Given the description of an element on the screen output the (x, y) to click on. 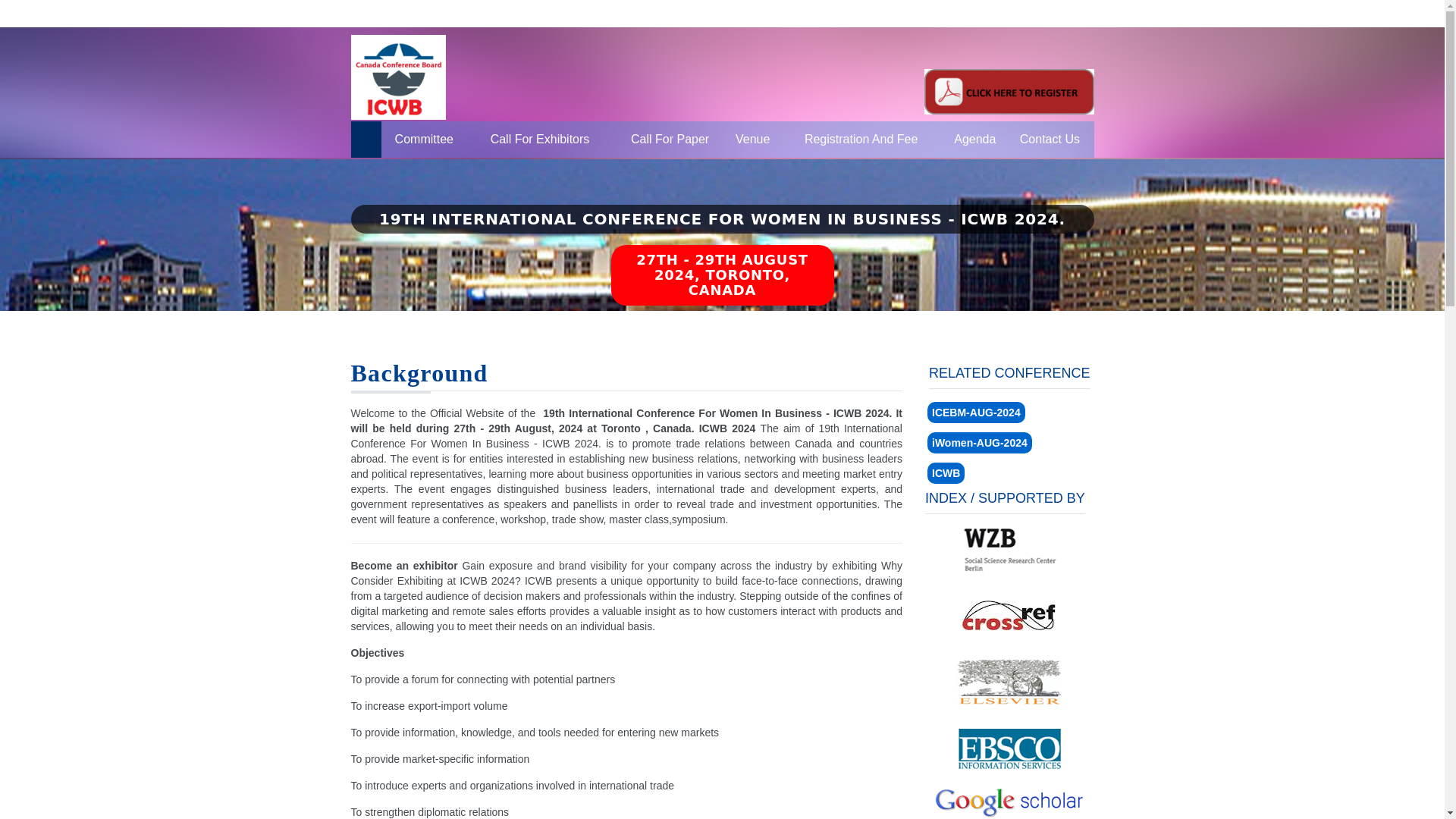
ICWB (945, 473)
Committee (423, 139)
Registration And Fee (860, 139)
ICEBM-AUG-2024 (976, 412)
Venue (751, 139)
Call For Paper (669, 139)
iWomen-AUG-2024 (979, 442)
Agenda (974, 139)
Contact Us (1049, 139)
Call For Exhibitors (539, 139)
